Given the description of an element on the screen output the (x, y) to click on. 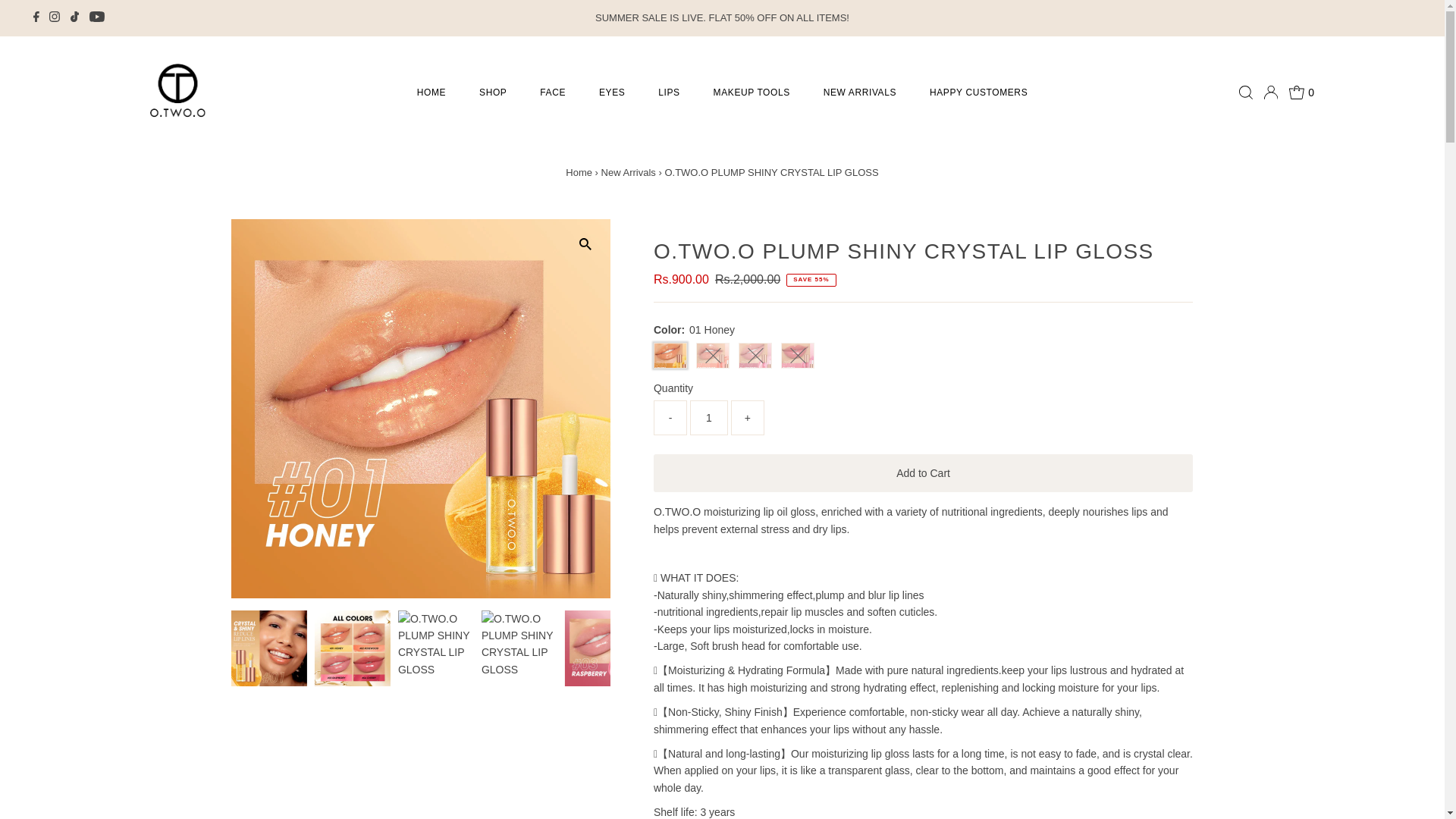
Click to zoom (585, 243)
HOME (431, 92)
HAPPY CUSTOMERS (978, 92)
Home (579, 172)
1 (709, 417)
0 (1301, 92)
MAKEUP TOOLS (751, 92)
FACE (552, 92)
Skip to content (50, 18)
New Arrivals (628, 172)
SHOP (492, 92)
NEW ARRIVALS (859, 92)
EYES (611, 92)
LIPS (668, 92)
Home (579, 172)
